Given the description of an element on the screen output the (x, y) to click on. 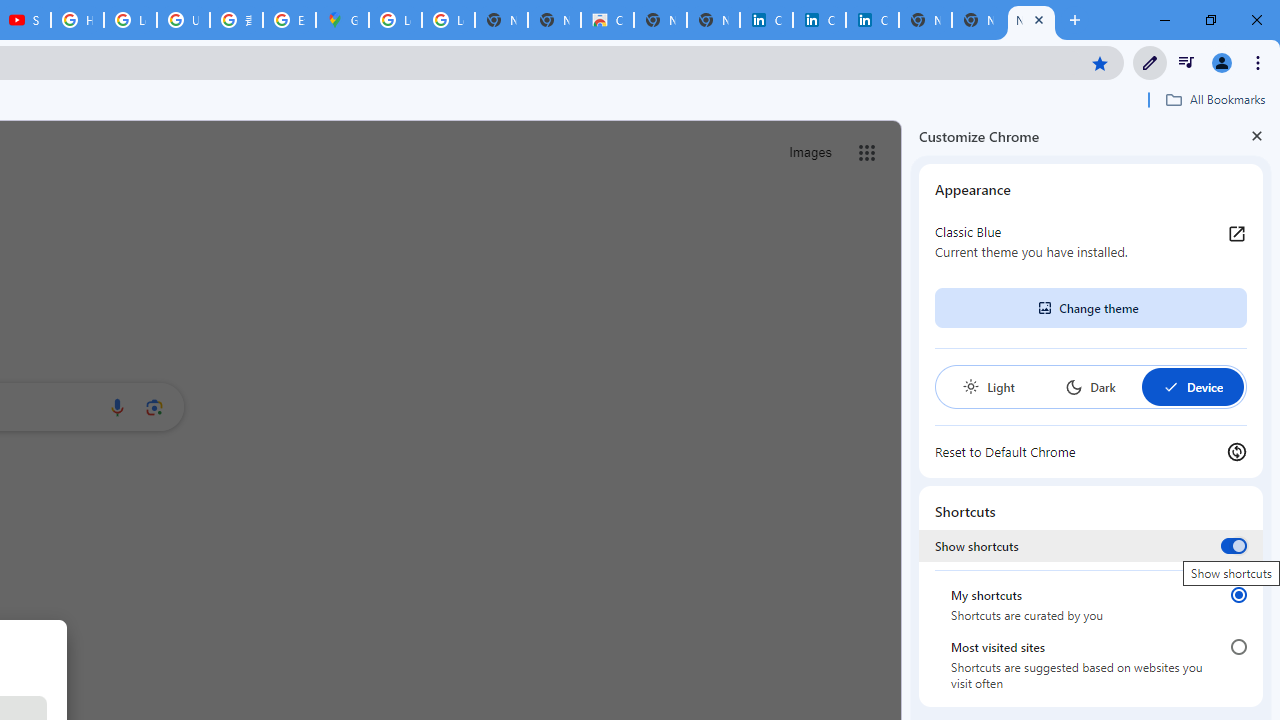
Reset to Default Chrome (1091, 452)
How Chrome protects your passwords - Google Chrome Help (77, 20)
All Bookmarks (1215, 99)
My shortcuts (1238, 594)
Cookie Policy | LinkedIn (819, 20)
Light (988, 386)
Chrome Web Store (607, 20)
Device (1192, 386)
Dark (1090, 386)
Classic Blue Current theme you have installed. (1091, 241)
Google Maps (342, 20)
